Given the description of an element on the screen output the (x, y) to click on. 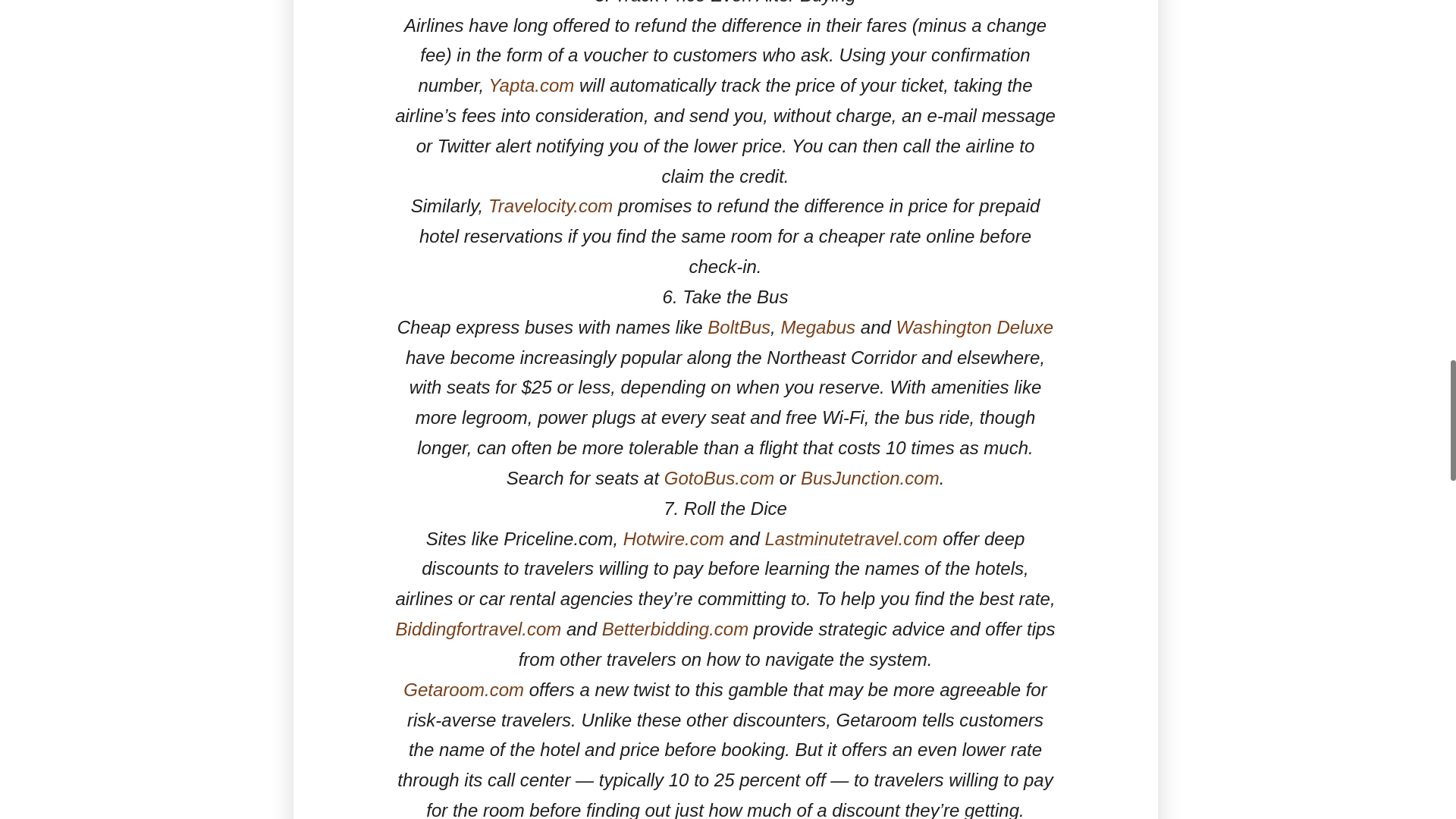
BoltBus (738, 326)
Travelocity.com (549, 205)
Washington Deluxe (975, 326)
Megabus (818, 326)
Yapta.com (530, 85)
